Given the description of an element on the screen output the (x, y) to click on. 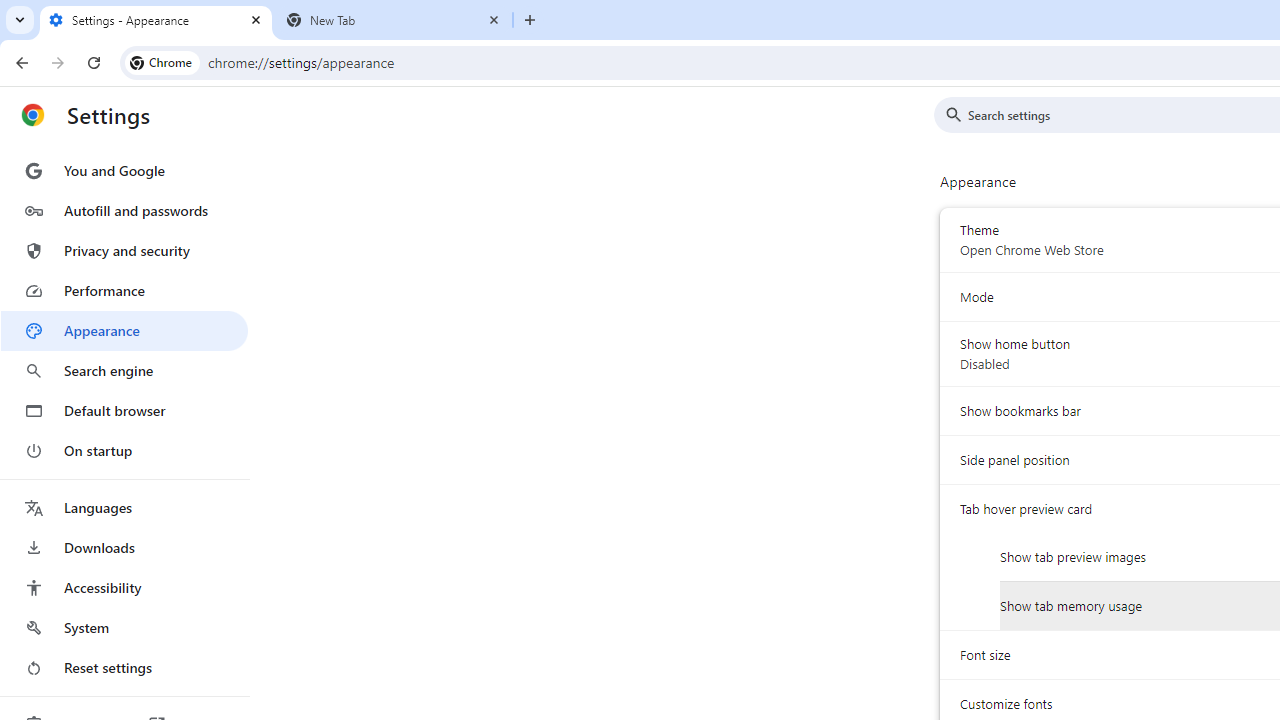
Privacy and security (124, 250)
New Tab (394, 20)
Appearance (124, 331)
Default browser (124, 410)
Reset settings (124, 668)
Languages (124, 507)
Accessibility (124, 587)
